Given the description of an element on the screen output the (x, y) to click on. 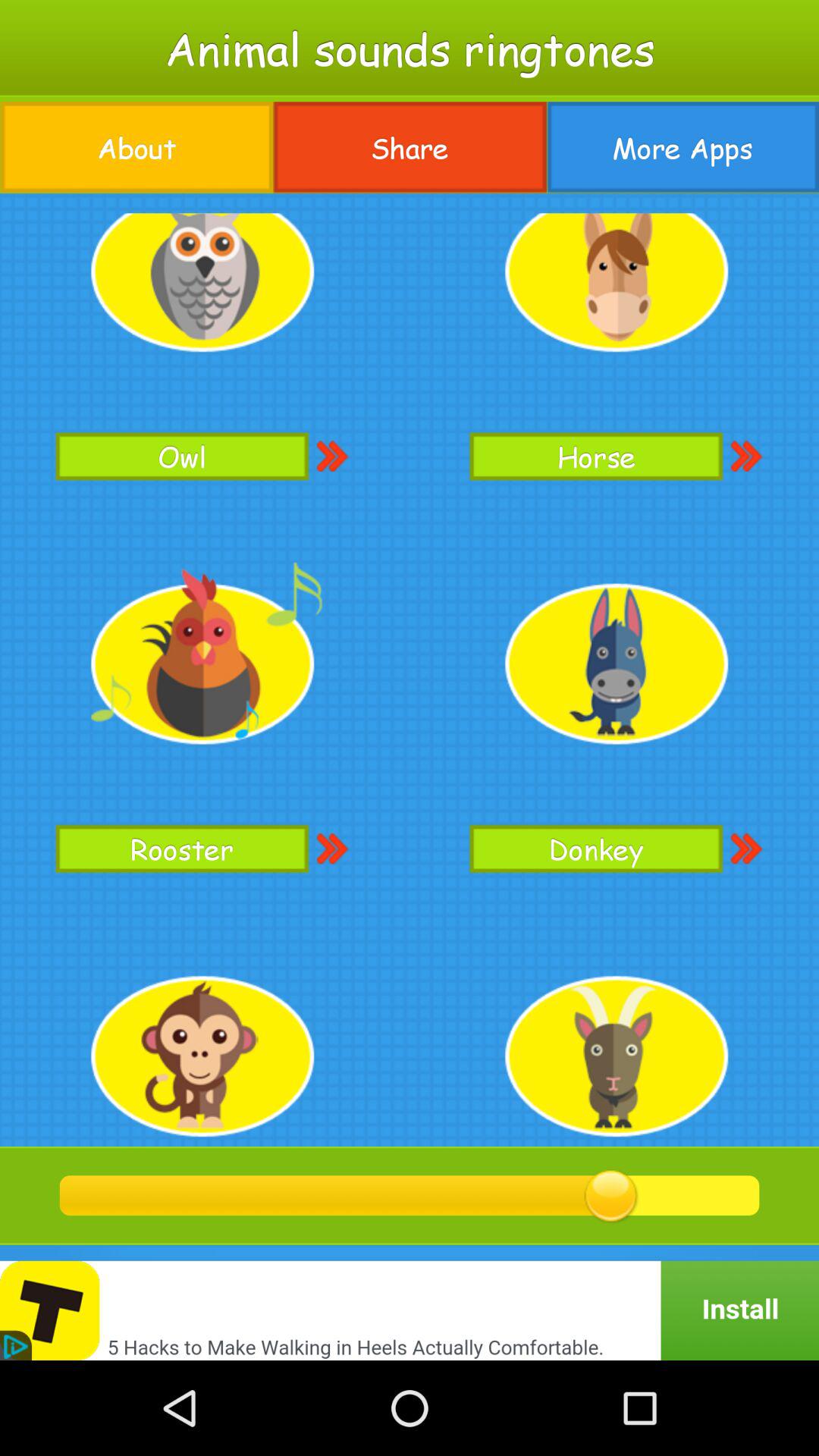
open the item next to the about (409, 147)
